Given the description of an element on the screen output the (x, y) to click on. 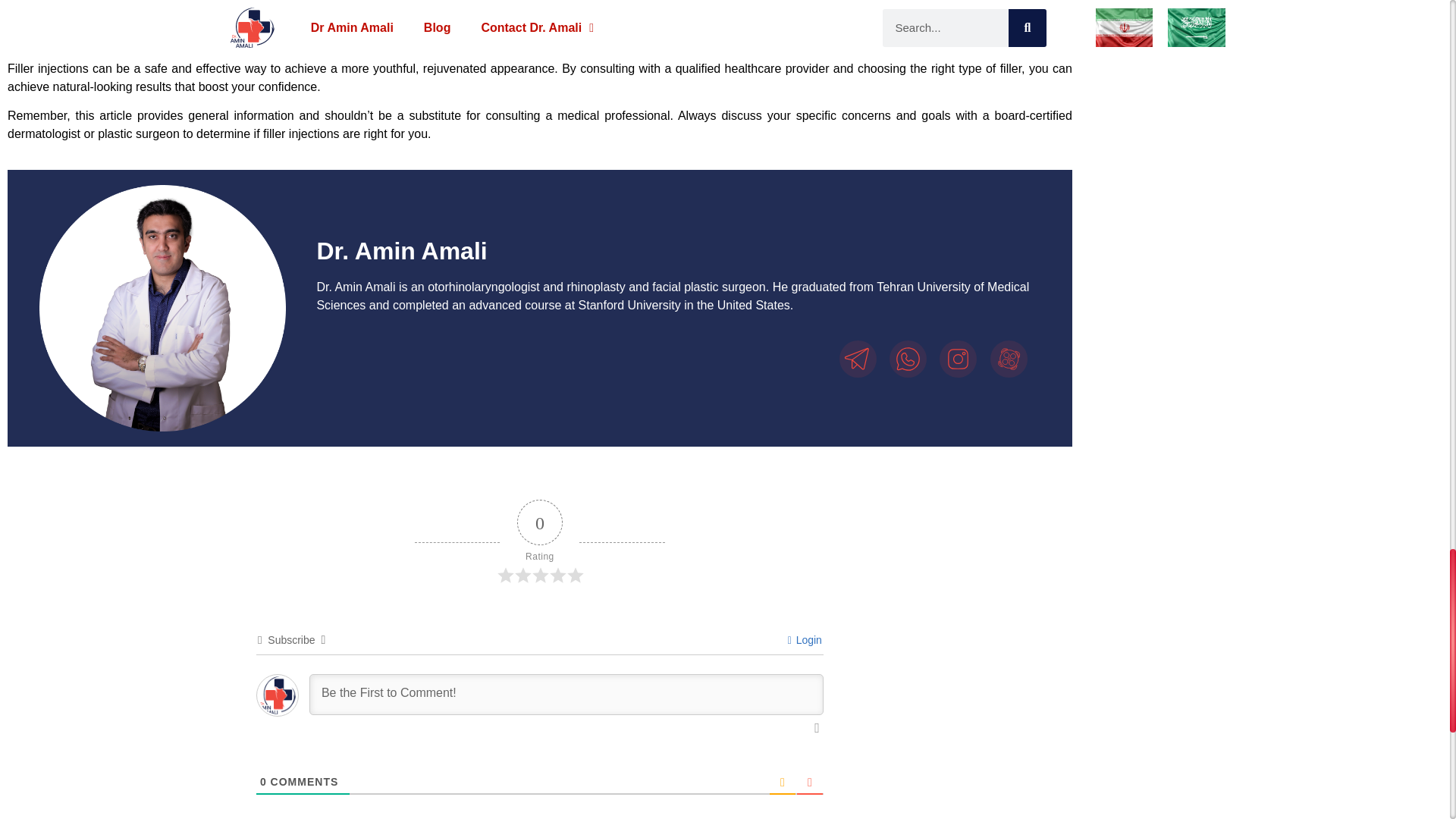
Login (804, 639)
